Given the description of an element on the screen output the (x, y) to click on. 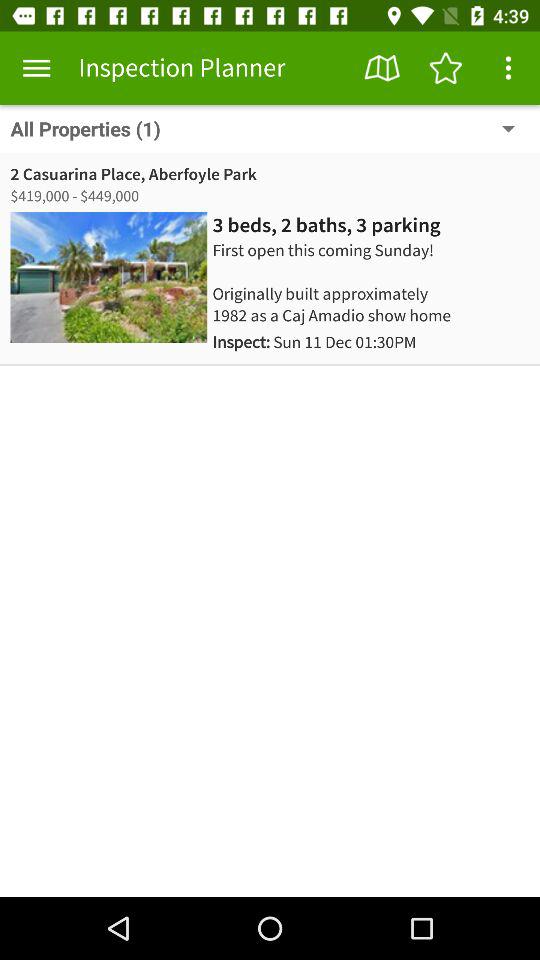
toggle setting options (508, 67)
